Given the description of an element on the screen output the (x, y) to click on. 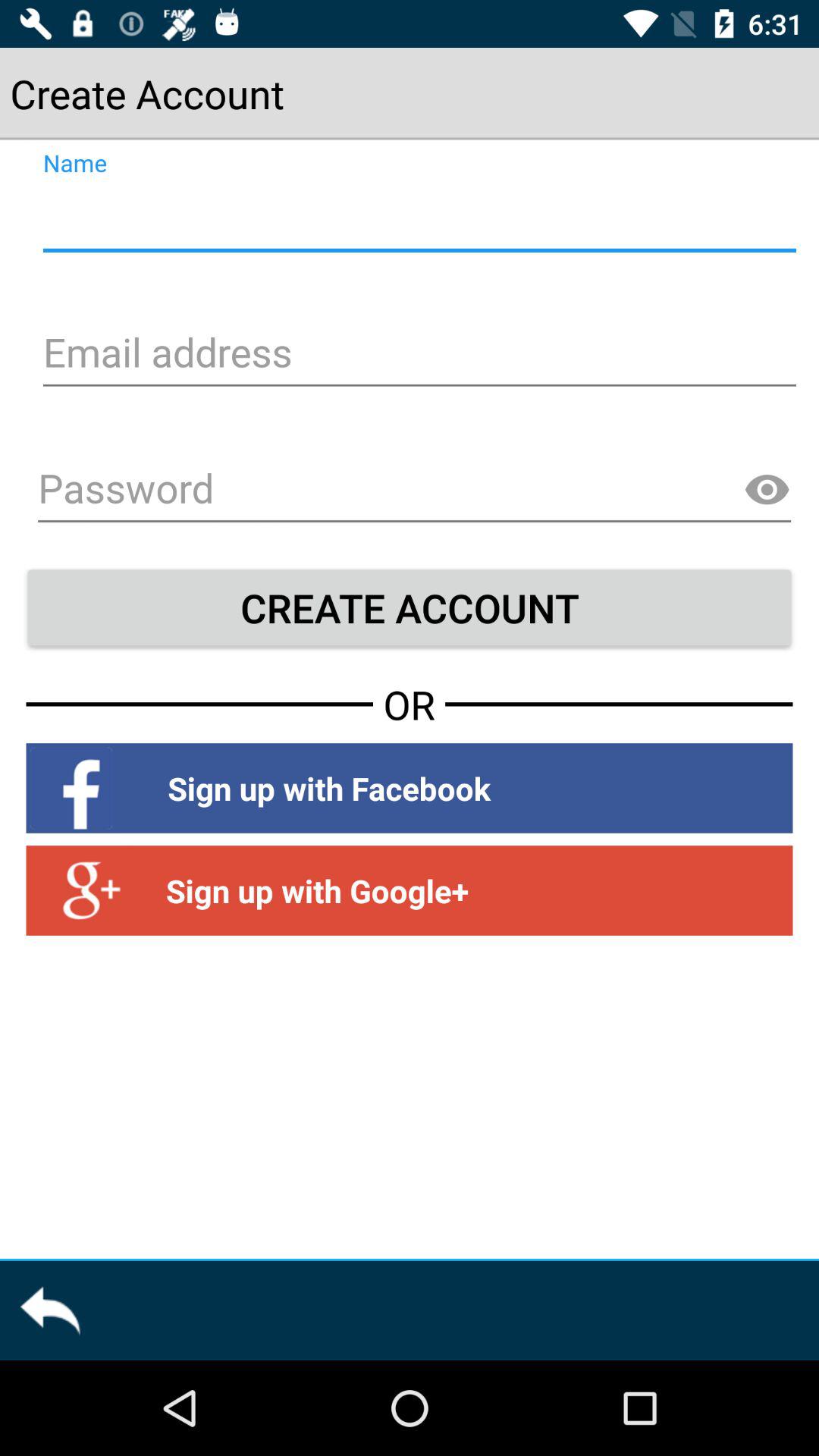
enter email adress (417, 354)
